Given the description of an element on the screen output the (x, y) to click on. 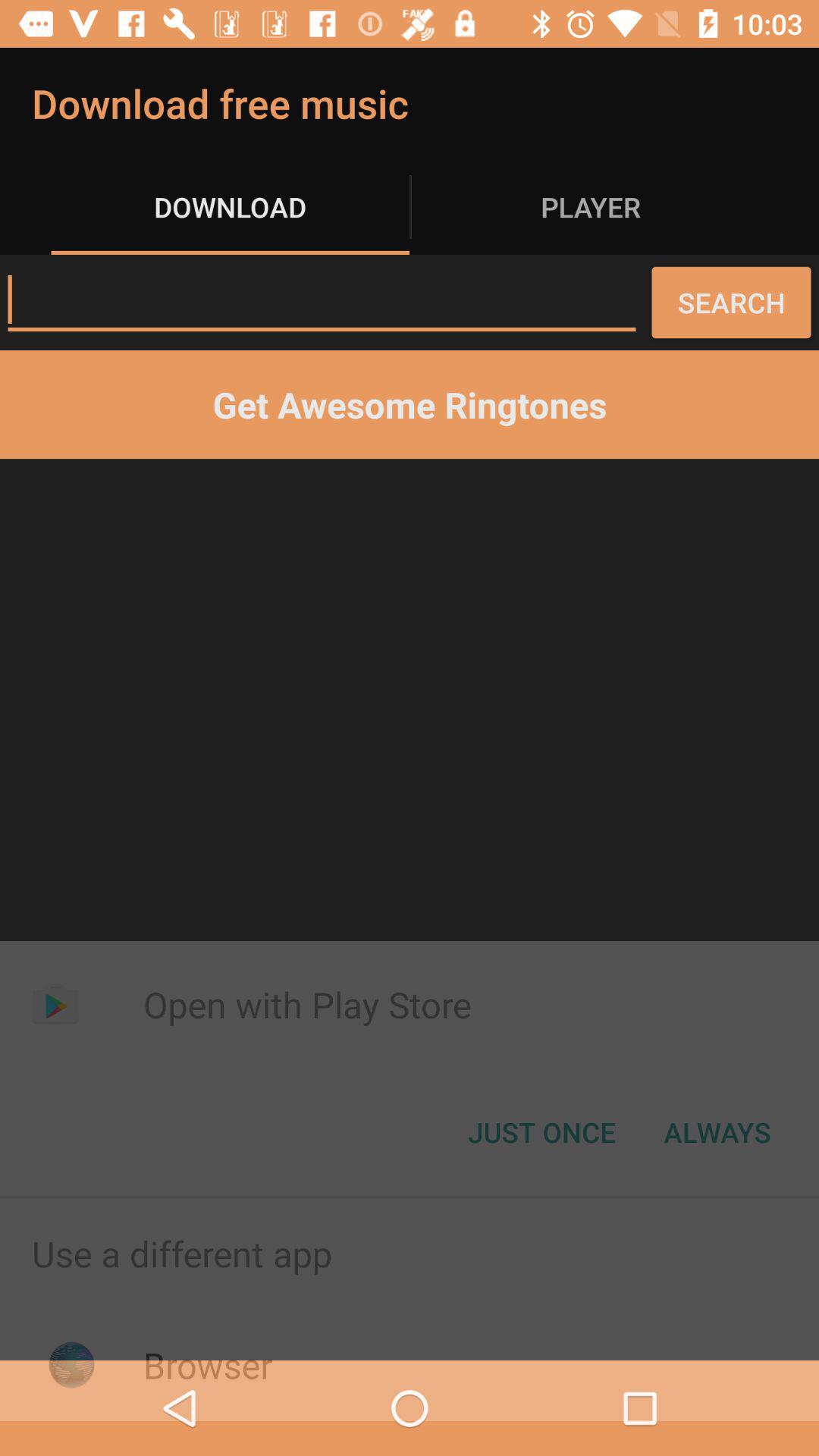
add text into the search bar and then press search (321, 300)
